Given the description of an element on the screen output the (x, y) to click on. 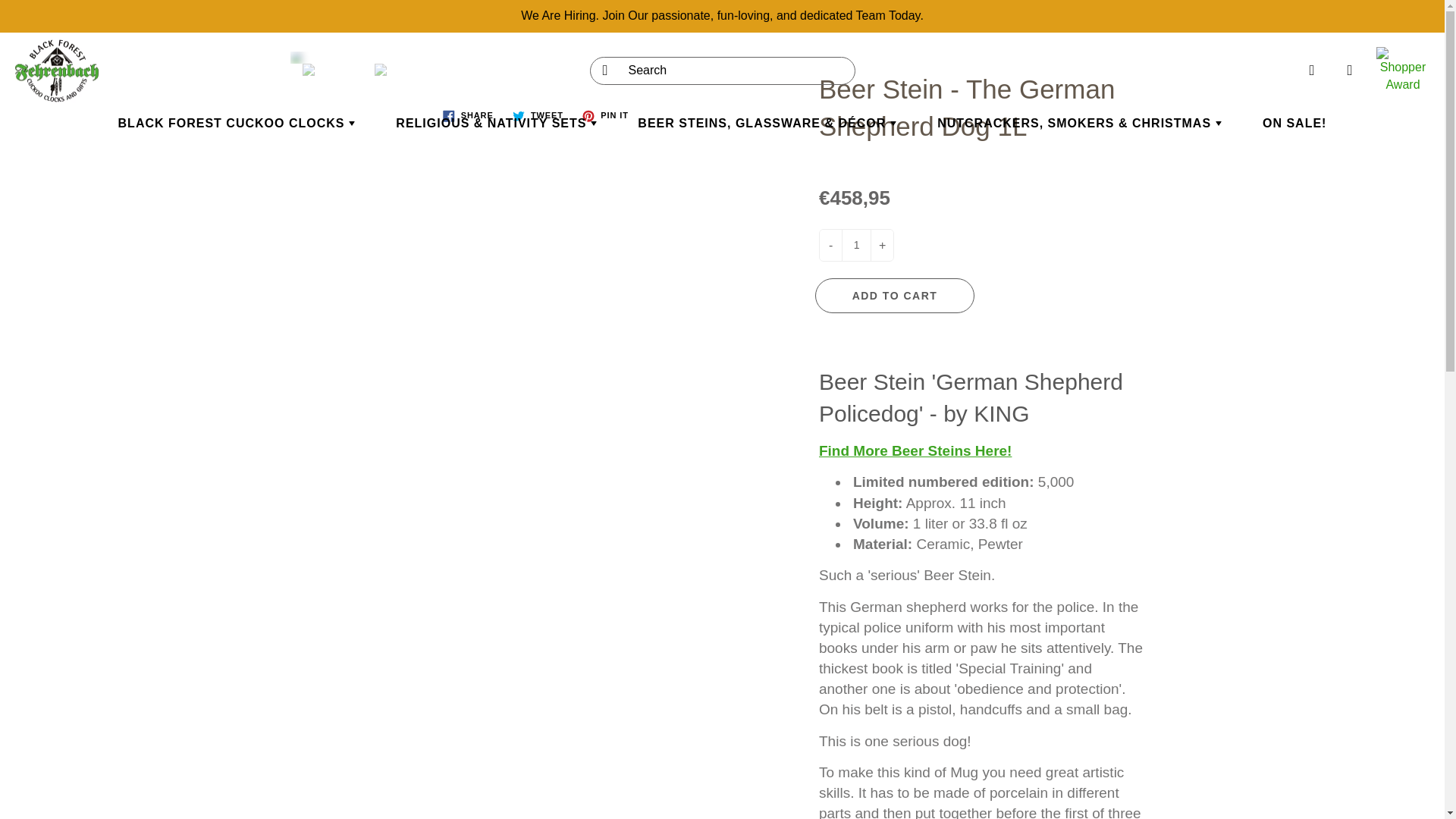
My account (1311, 69)
You have 0 items in your cart (1349, 69)
Beer Stein - The German Shepherd Dog 1L (334, 69)
Share on Facebook (467, 116)
Pin on Pinterest (604, 116)
Search (602, 70)
Beer Stein - The German Shepherd Dog 1L (536, 57)
Tweet on Twitter (537, 116)
Beer Stein - The German Shepherd Dog 1L (262, 69)
Beer Stein - The German Shepherd Dog 1L (406, 69)
